Given the description of an element on the screen output the (x, y) to click on. 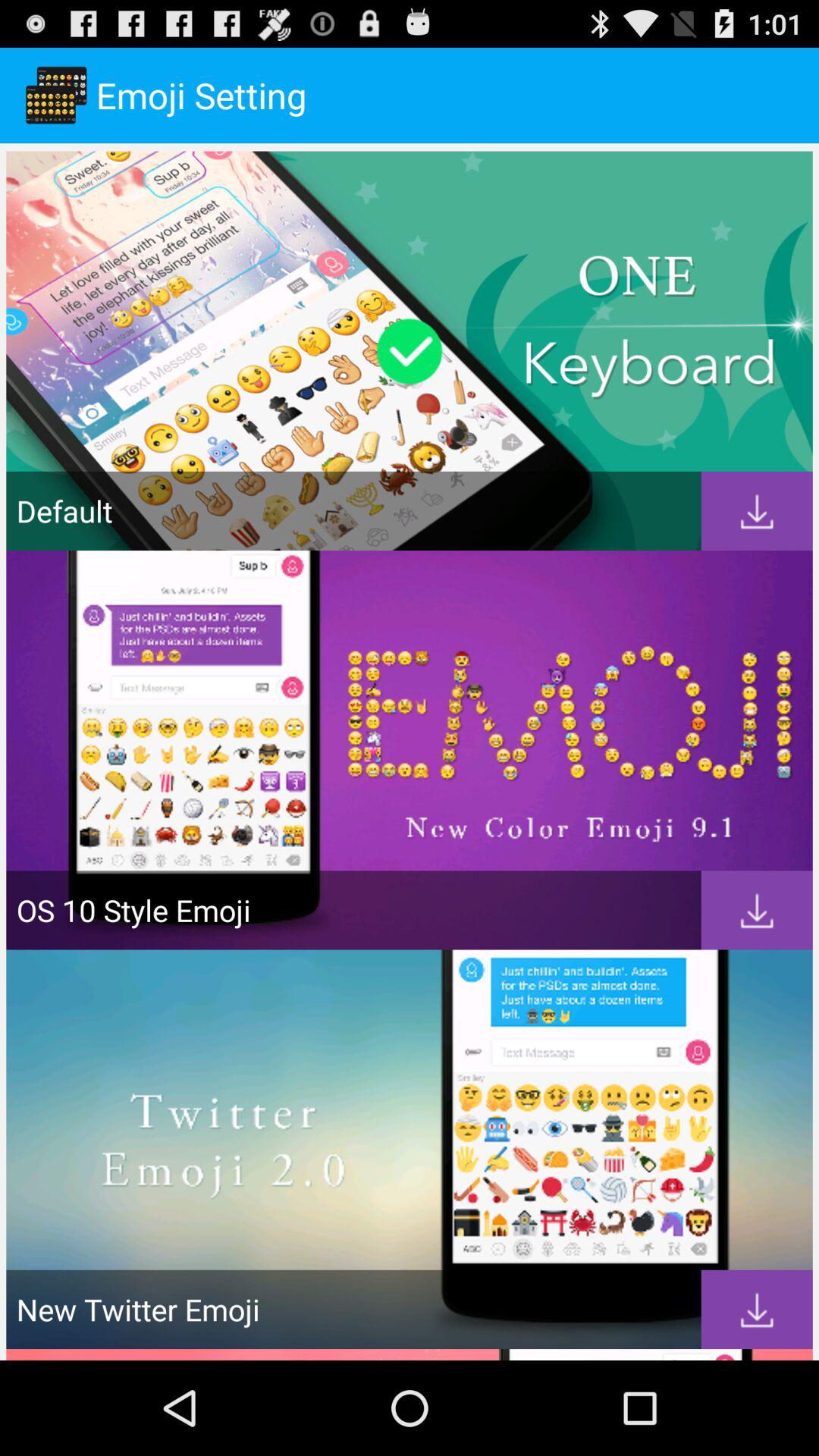
opens full page for item (756, 511)
